Given the description of an element on the screen output the (x, y) to click on. 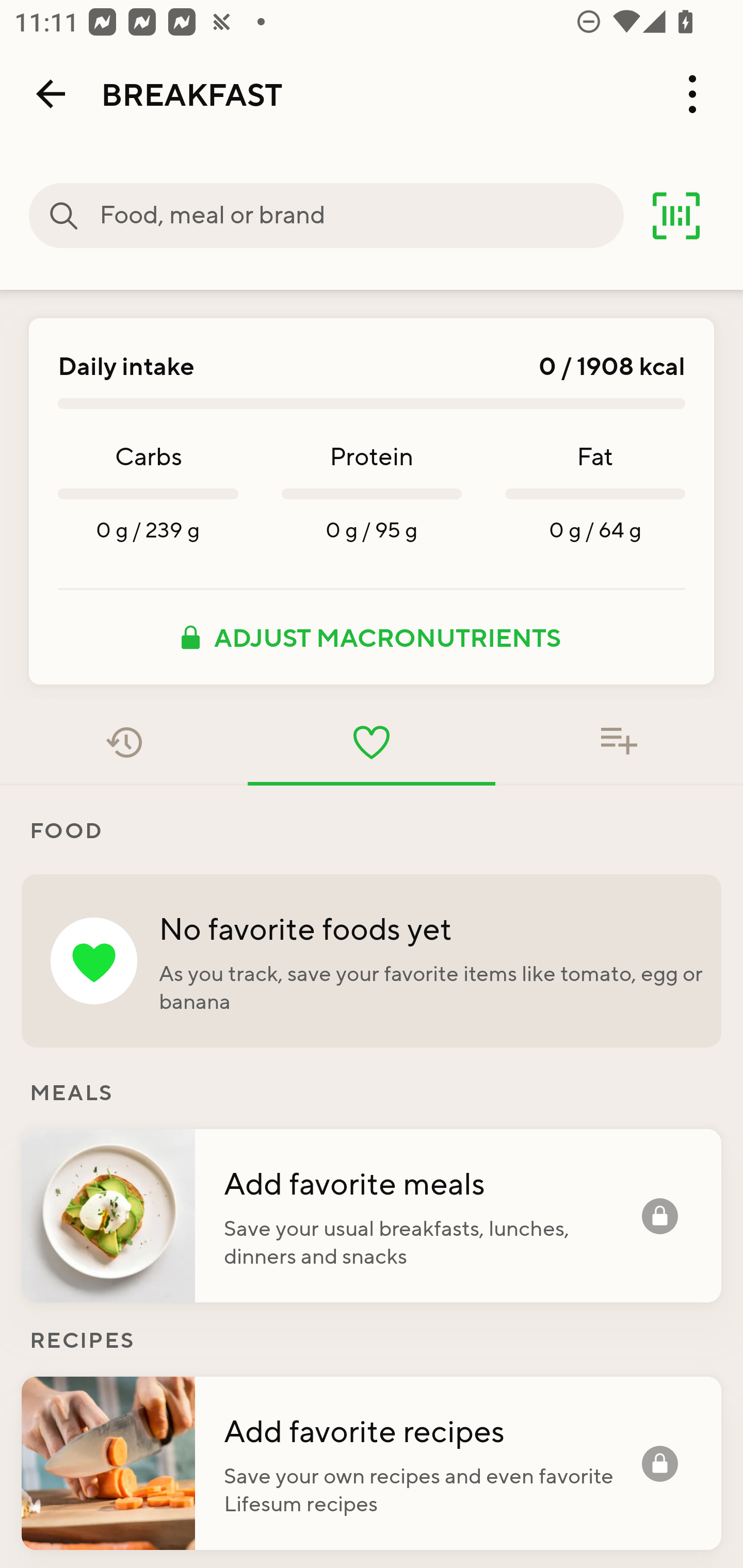
Back (50, 93)
Food, meal or brand (63, 215)
Food, meal or brand (361, 215)
ADJUST MACRONUTRIENTS (371, 637)
Recent (123, 742)
Food added (619, 742)
Add favorite meals (432, 1182)
Add favorite recipes (432, 1429)
